Given the description of an element on the screen output the (x, y) to click on. 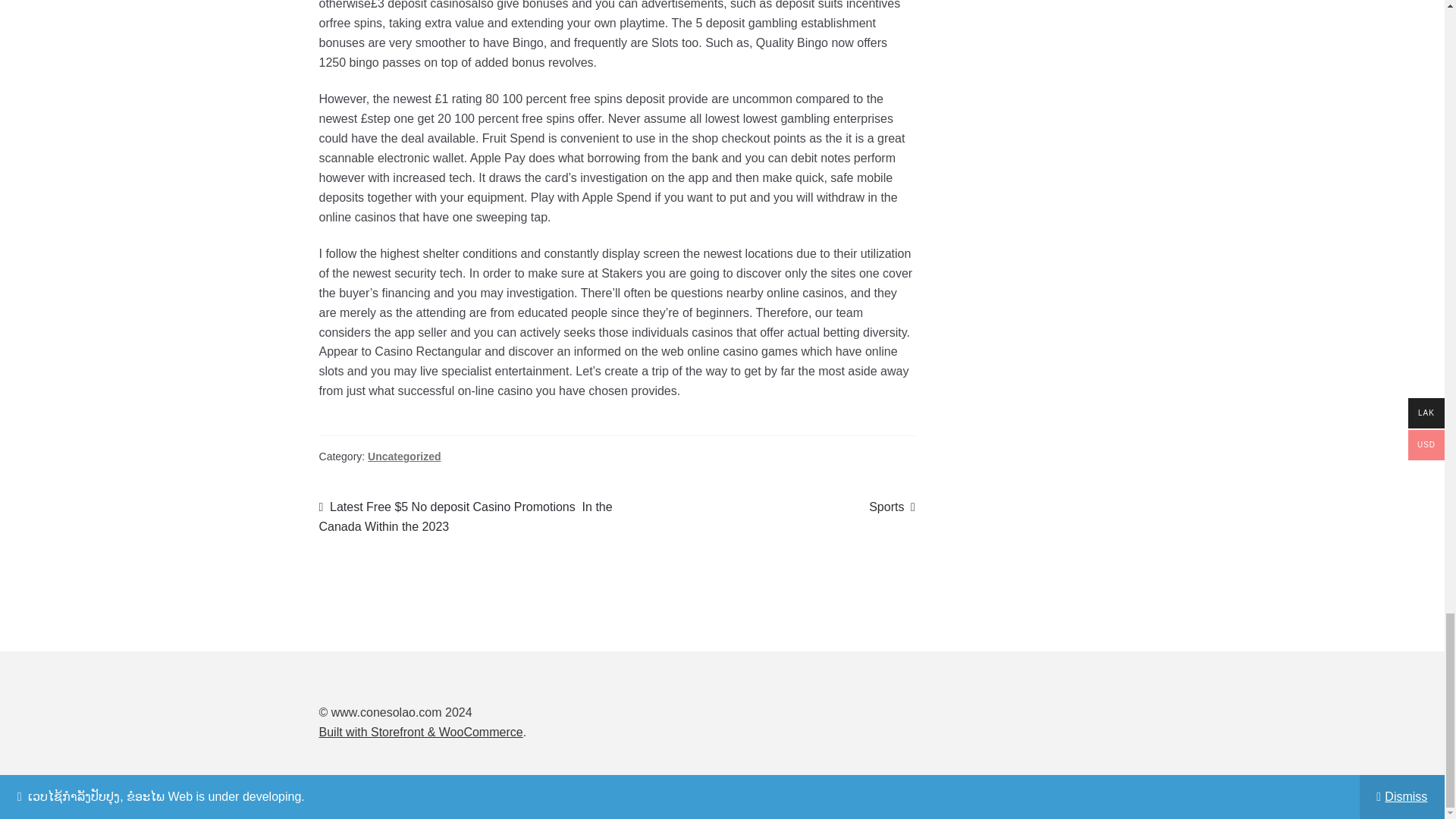
WooCommerce - The Best eCommerce Platform for WordPress (420, 731)
Uncategorized (404, 456)
